Given the description of an element on the screen output the (x, y) to click on. 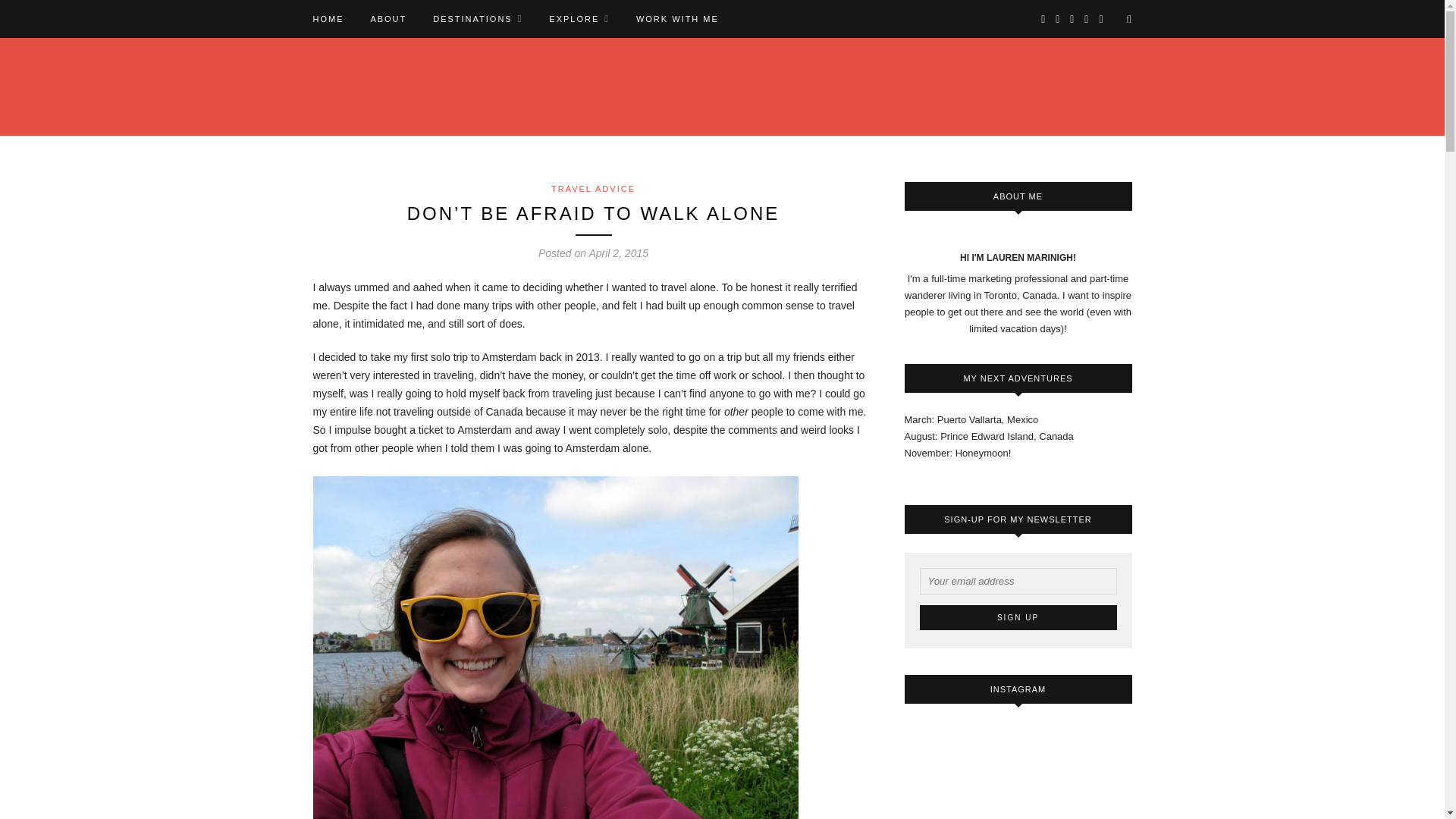
DESTINATIONS (477, 18)
Sign up (1017, 617)
ABOUT (387, 18)
WORK WITH ME (677, 18)
EXPLORE (579, 18)
TRAVEL ADVICE (592, 188)
